Given the description of an element on the screen output the (x, y) to click on. 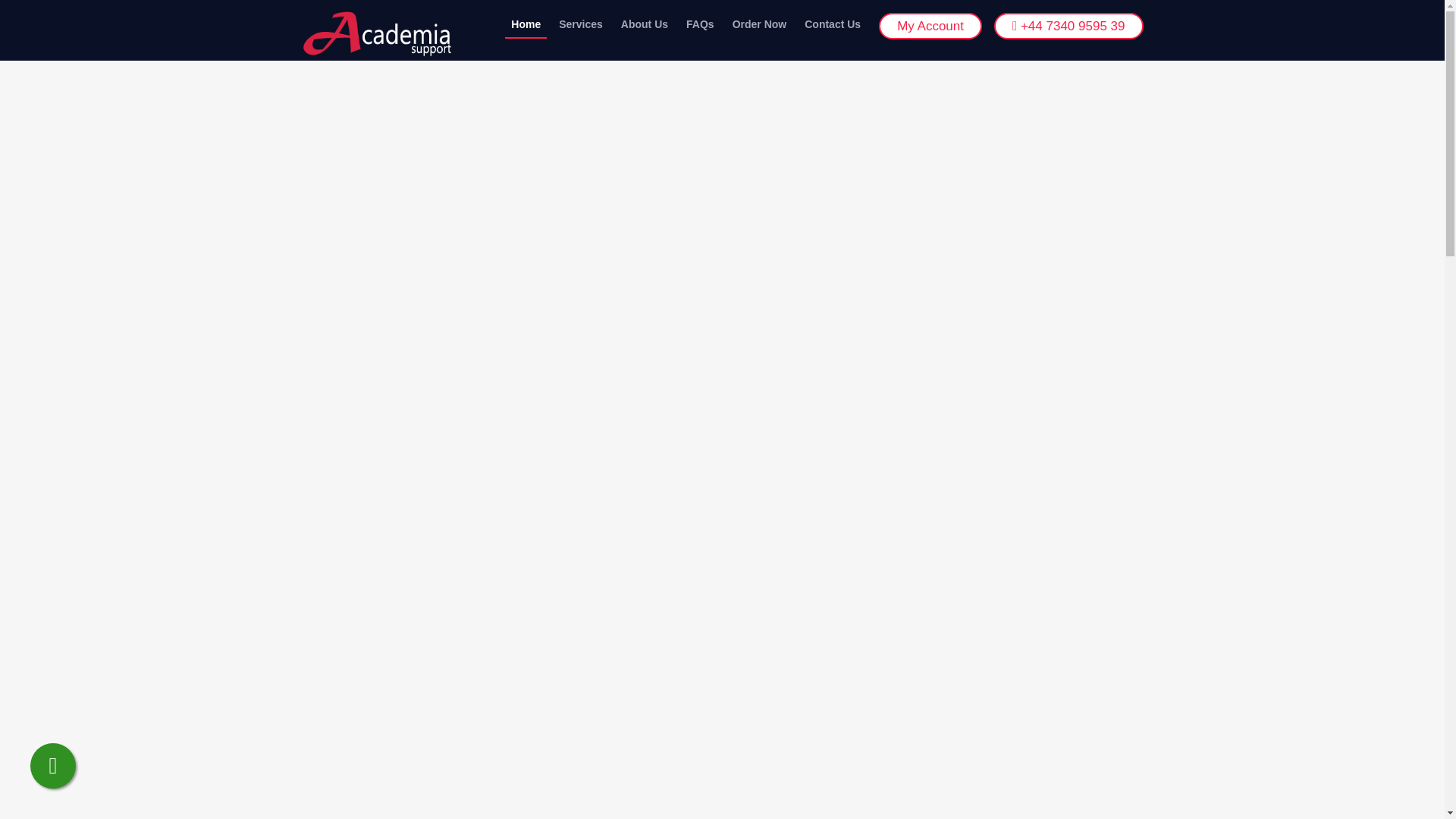
Home (526, 24)
FAQs (699, 24)
Order Now (759, 24)
About Us (644, 24)
Contact Us (831, 24)
Services (580, 24)
My Account (930, 26)
